Given the description of an element on the screen output the (x, y) to click on. 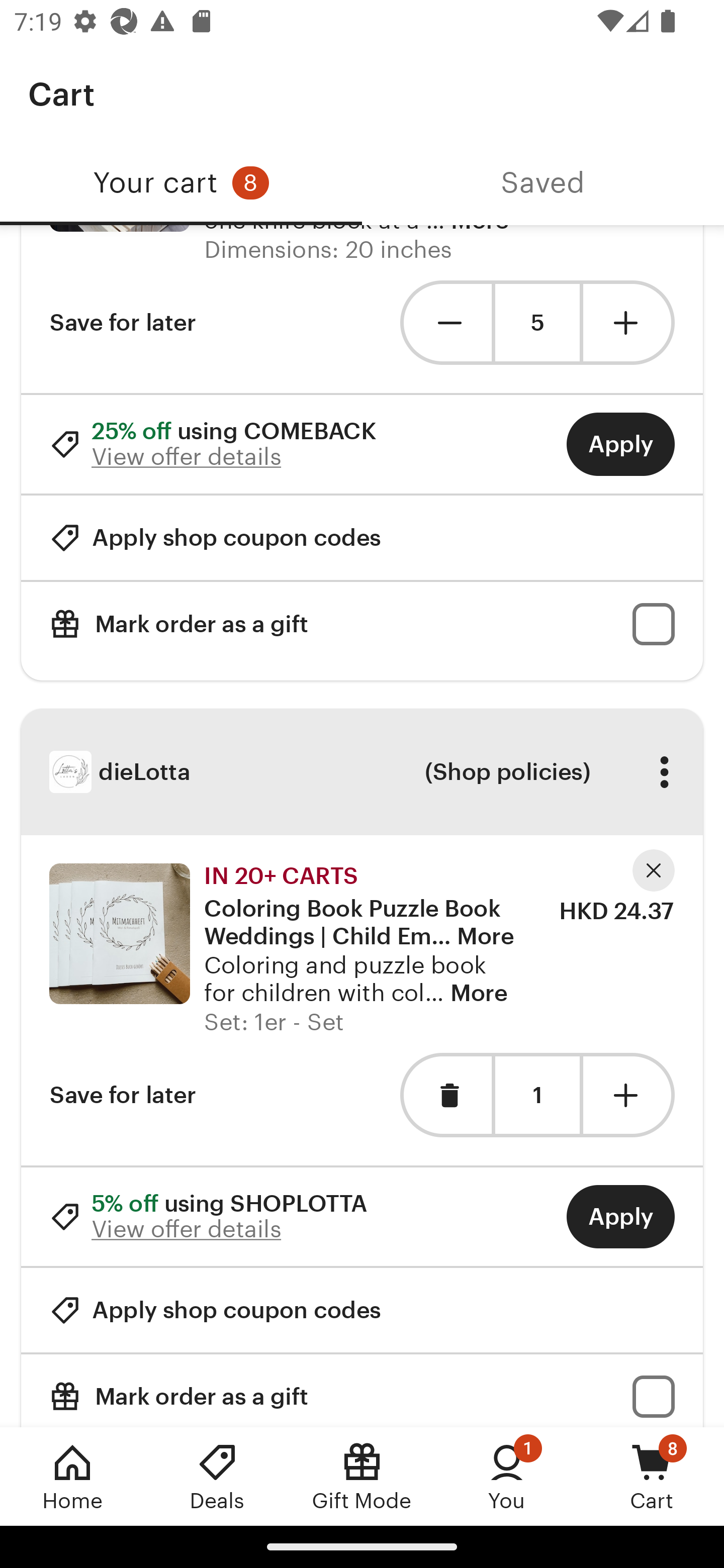
Saved, tab 2 of 2 Saved (543, 183)
Save for later (122, 322)
Remove one unit from cart (445, 322)
Add one unit to cart (628, 322)
5 (537, 322)
25% off using COMEBACK View offer details Apply (361, 443)
Apply (620, 443)
Apply shop coupon codes (215, 537)
Mark order as a gift (361, 623)
dieLotta (Shop policies) More options (361, 771)
(Shop policies) (507, 771)
More options (663, 771)
Save for later (122, 1094)
Remove item from cart (445, 1094)
Add one unit to cart (628, 1094)
1 (537, 1095)
5% off using SHOPLOTTA View offer details Apply (361, 1216)
Apply (620, 1216)
Apply shop coupon codes (215, 1309)
Mark order as a gift (361, 1390)
Home (72, 1475)
Deals (216, 1475)
Gift Mode (361, 1475)
You, 1 new notification You (506, 1475)
